Given the description of an element on the screen output the (x, y) to click on. 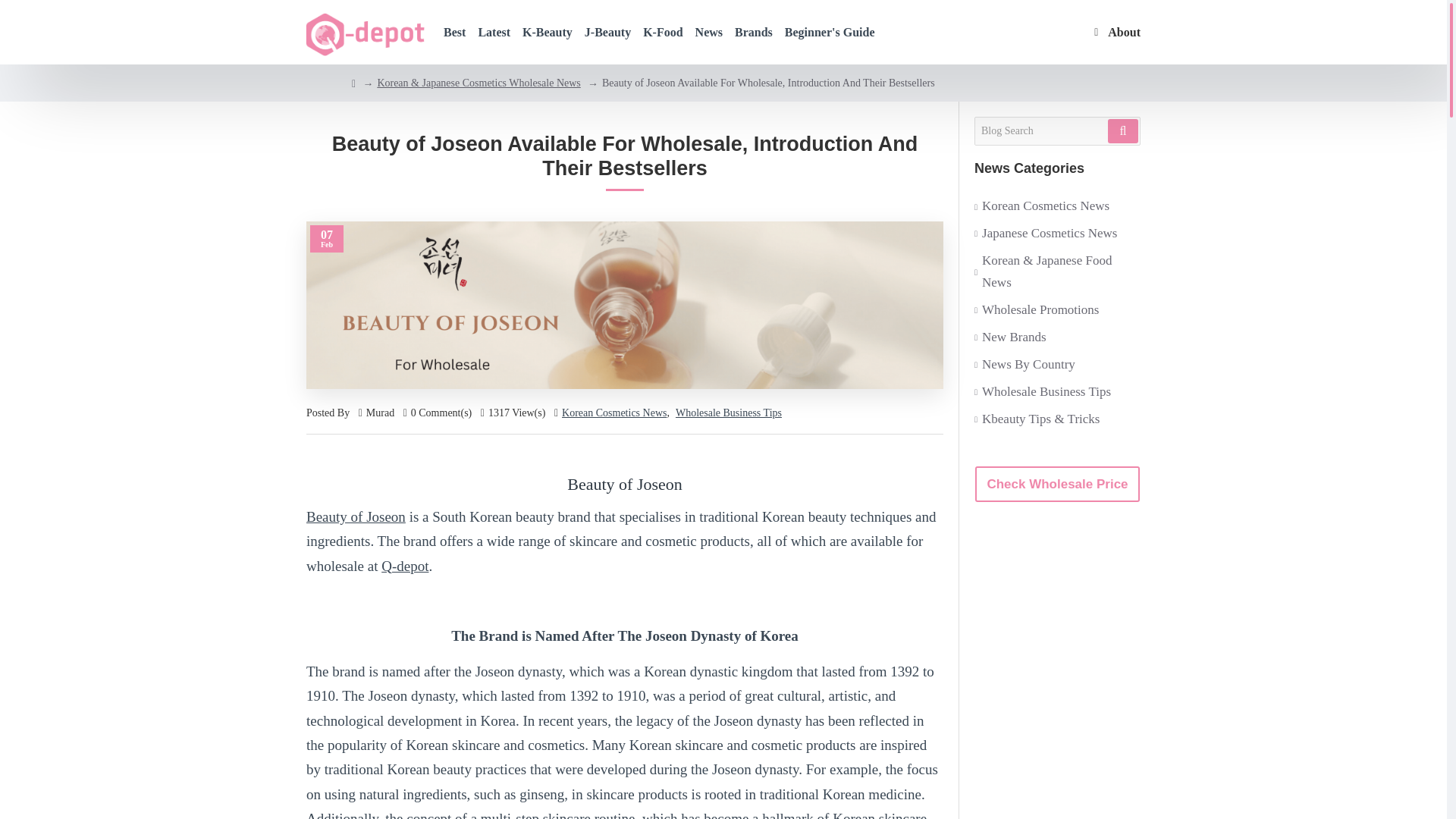
K-Beauty (547, 32)
About (1117, 31)
Beginner's Guide (829, 32)
Q-depot.com (365, 34)
